Given the description of an element on the screen output the (x, y) to click on. 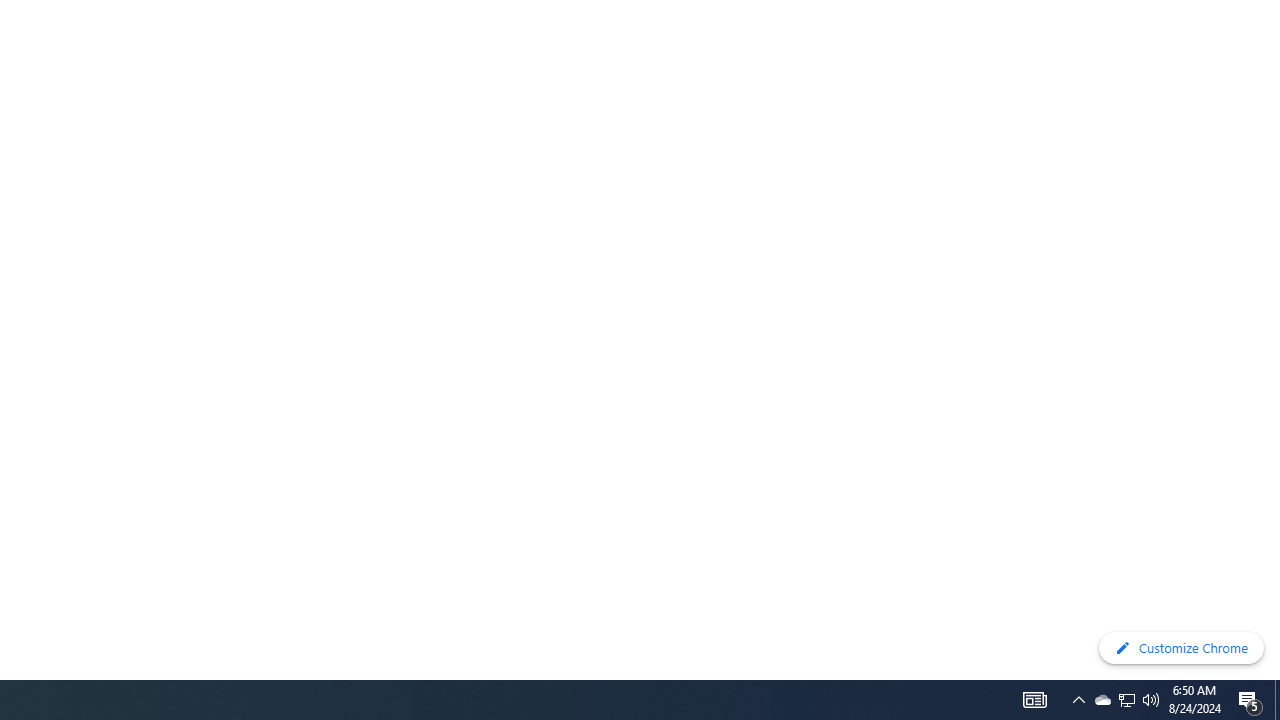
Customize Chrome (1181, 647)
